Given the description of an element on the screen output the (x, y) to click on. 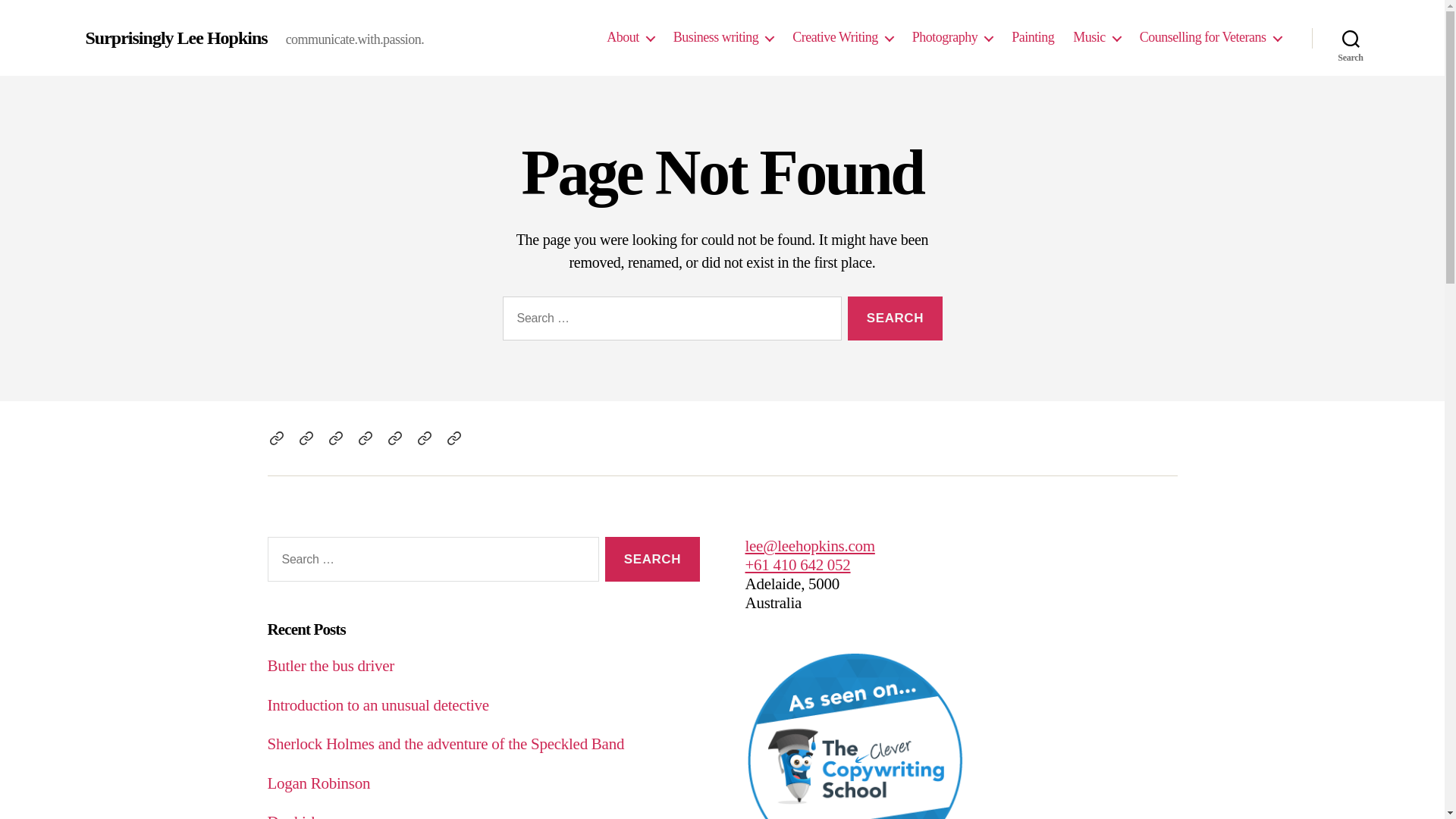
Search Element type: text (652, 558)
lee@leehopkins.com Element type: text (809, 545)
Music Element type: text (1096, 37)
Search Element type: text (1350, 37)
Logan Robinson Element type: text (318, 783)
Creative Writing Element type: text (842, 37)
Counselling for Veterans Element type: text (453, 438)
Painting Element type: text (394, 438)
Photography Element type: text (365, 438)
Photography Element type: text (952, 37)
Business writing Element type: text (306, 438)
Search Element type: text (894, 318)
Introduction to an unusual detective Element type: text (377, 705)
About Element type: text (275, 438)
Business writing Element type: text (723, 37)
+61 410 642 052 Element type: text (797, 564)
Creative Writing Element type: text (335, 438)
Surprisingly Lee Hopkins Element type: text (175, 37)
Sherlock Holmes and the adventure of the Speckled Band Element type: text (445, 743)
About Element type: text (630, 37)
Counselling for Veterans Element type: text (1210, 37)
Painting Element type: text (1032, 37)
Butler the bus driver Element type: text (330, 665)
Music Element type: text (424, 438)
